Given the description of an element on the screen output the (x, y) to click on. 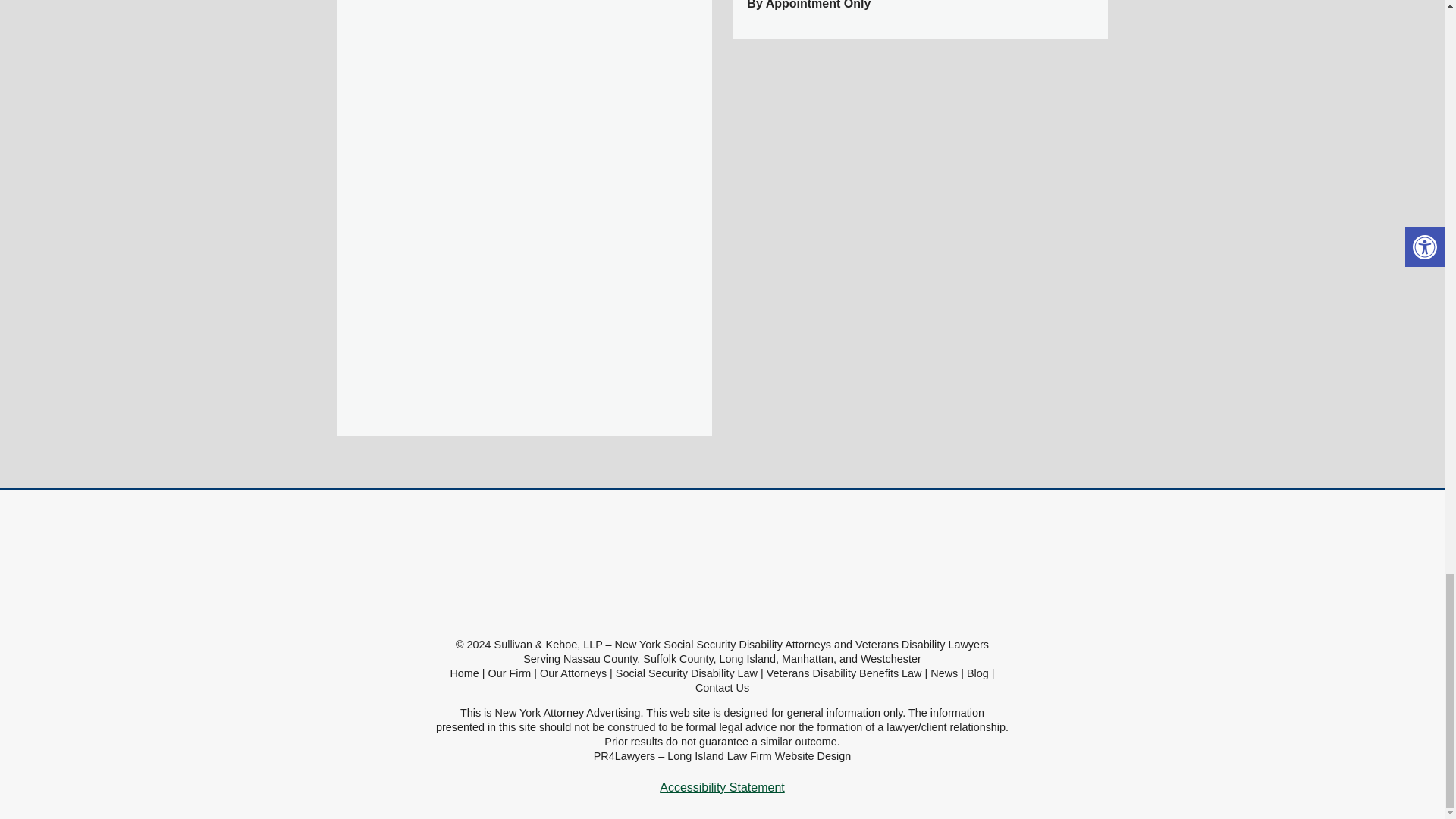
Facebook (596, 34)
